Given the description of an element on the screen output the (x, y) to click on. 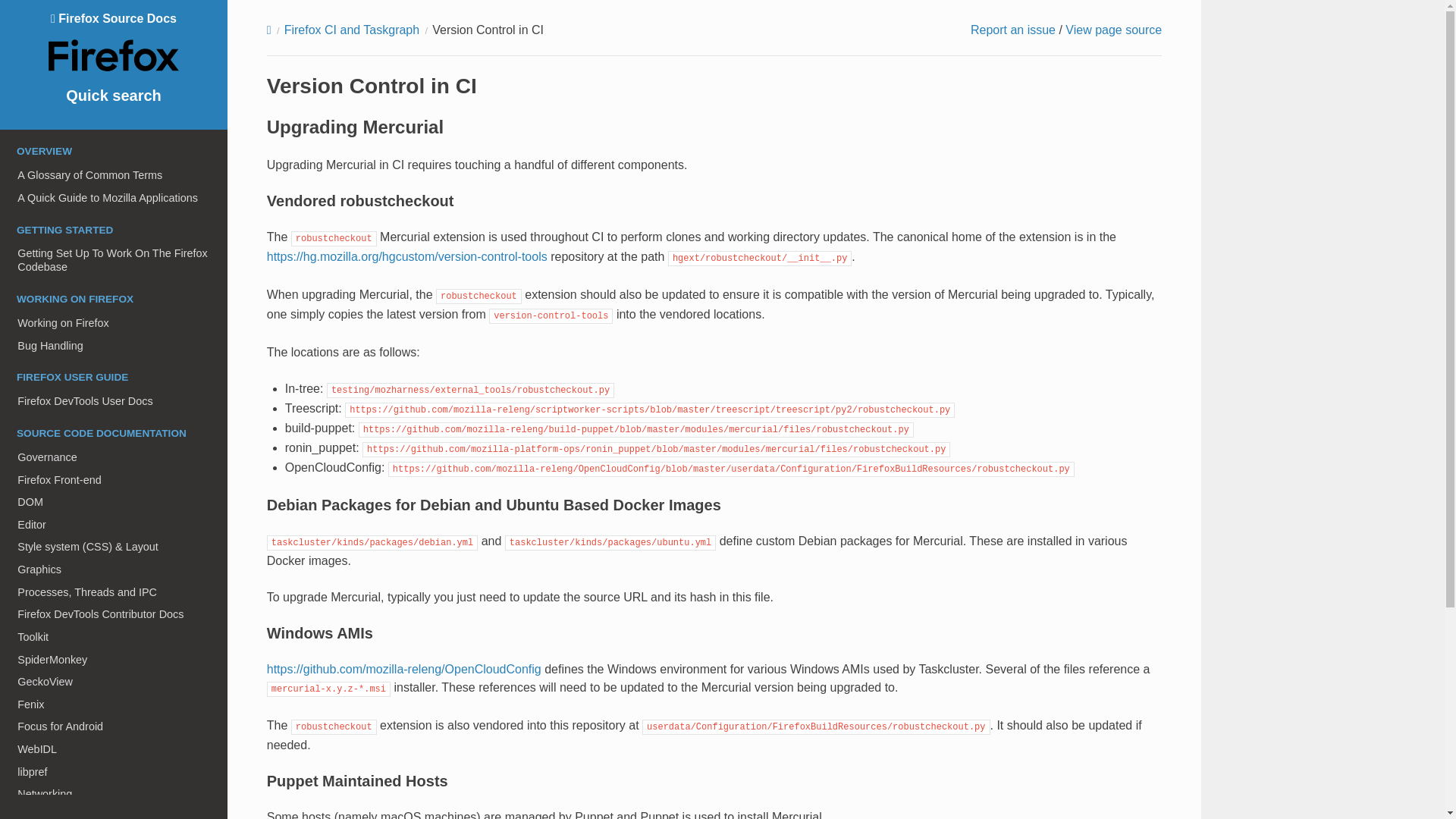
GeckoView (113, 681)
Firefox Front-end (113, 479)
SpiderMonkey (113, 659)
Bug Handling (113, 345)
A Quick Guide to Mozilla Applications (113, 197)
Getting Set Up To Work On The Firefox Codebase (113, 260)
Toolkit (113, 636)
Networking (113, 793)
WebIDL (113, 748)
Firefox DevTools User Docs (113, 400)
libpref (113, 771)
A Glossary of Common Terms (113, 174)
Governance (113, 456)
Focus for Android (113, 726)
DOM (113, 501)
